Given the description of an element on the screen output the (x, y) to click on. 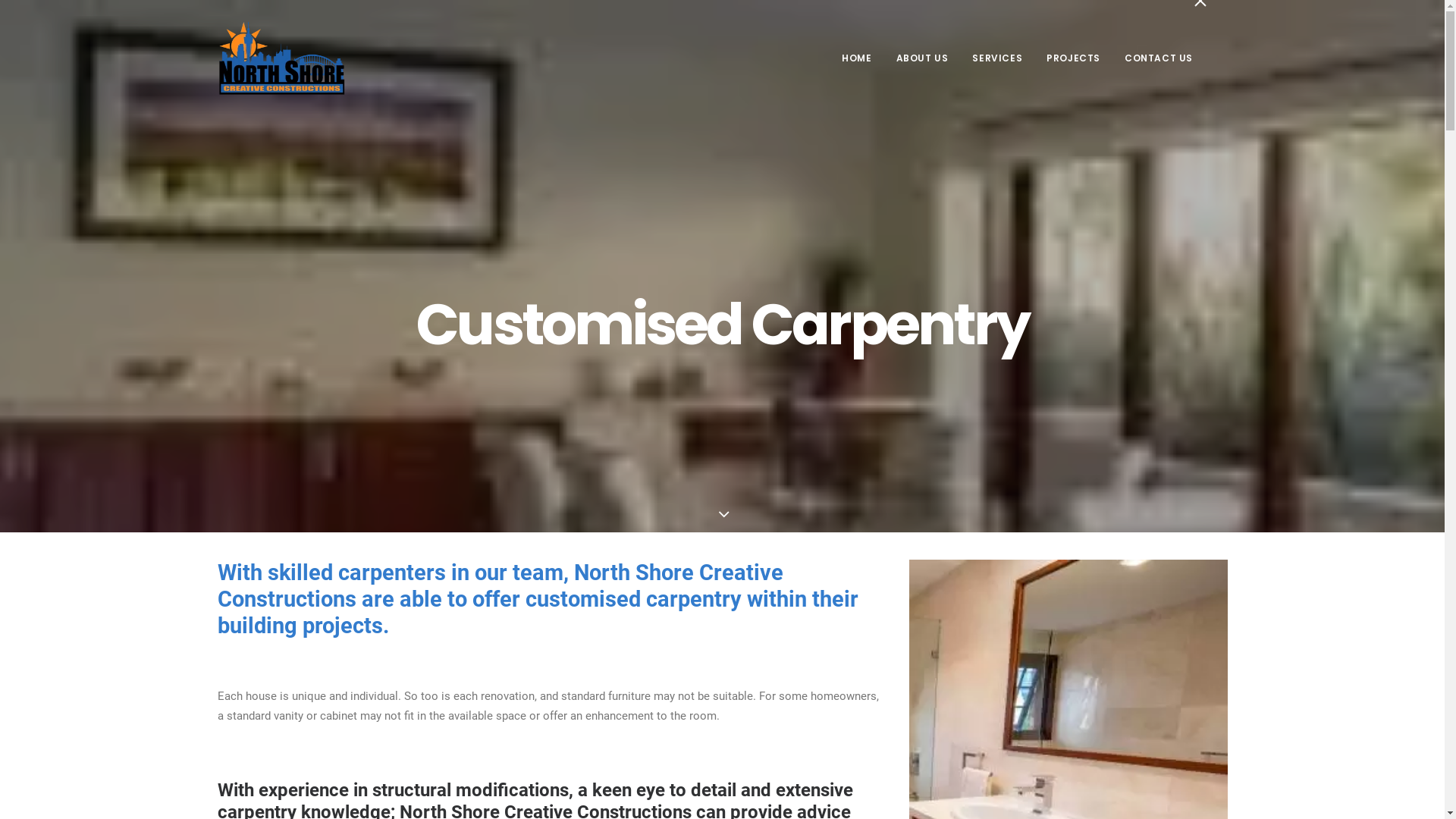
HOME Element type: text (861, 58)
SERVICES Element type: text (996, 58)
PROJECTS Element type: text (1072, 58)
ABOUT US Element type: text (922, 58)
CONTACT US Element type: text (1152, 58)
